Given the description of an element on the screen output the (x, y) to click on. 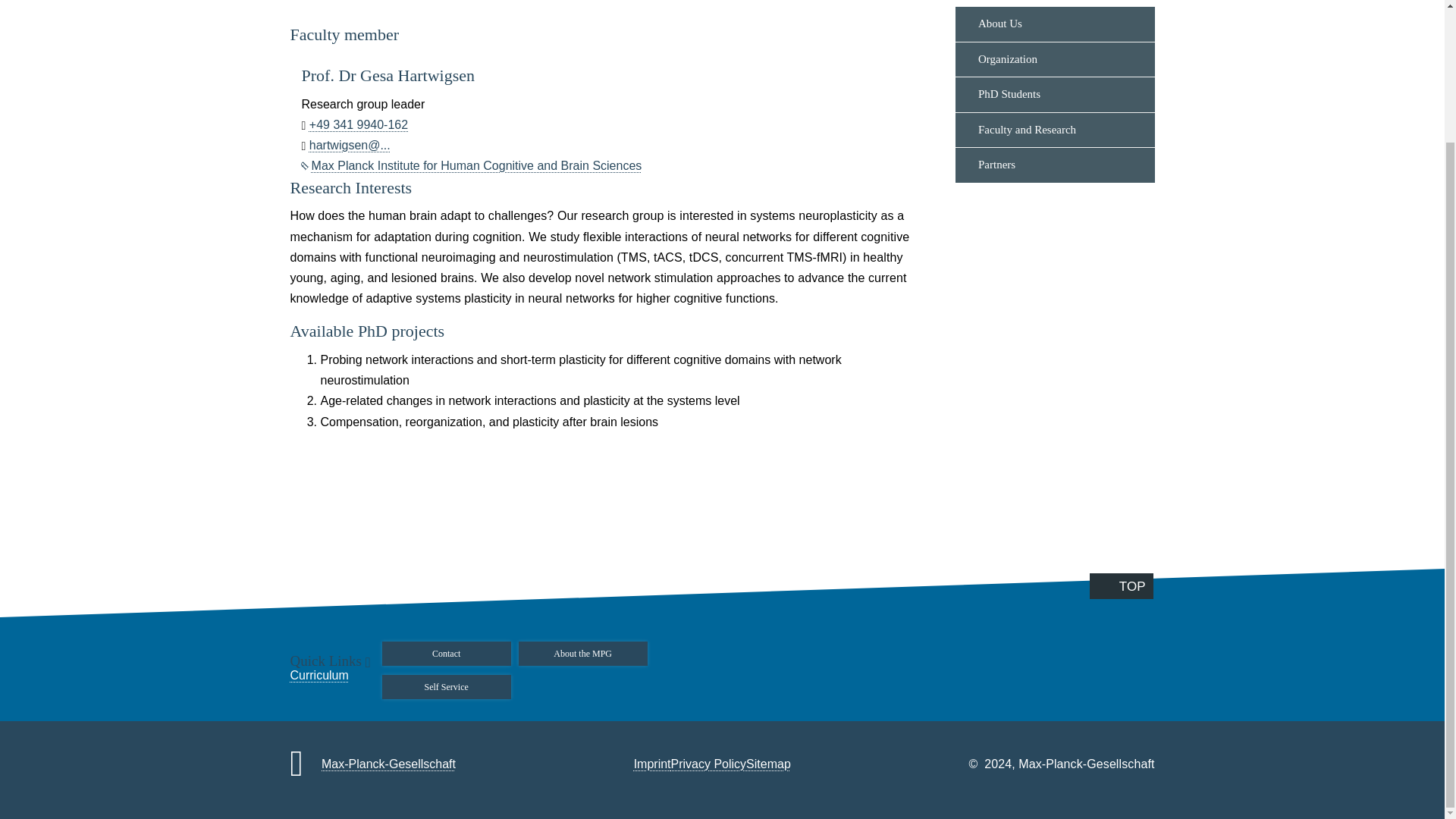
Max Planck Institute for Human Cognitive and Brain Sciences (471, 164)
Facebook (258, 23)
LinkedIn (258, 56)
Reddit (258, 91)
Xing (258, 159)
E-Mail (258, 193)
Print (258, 228)
Twitter (258, 125)
